Given the description of an element on the screen output the (x, y) to click on. 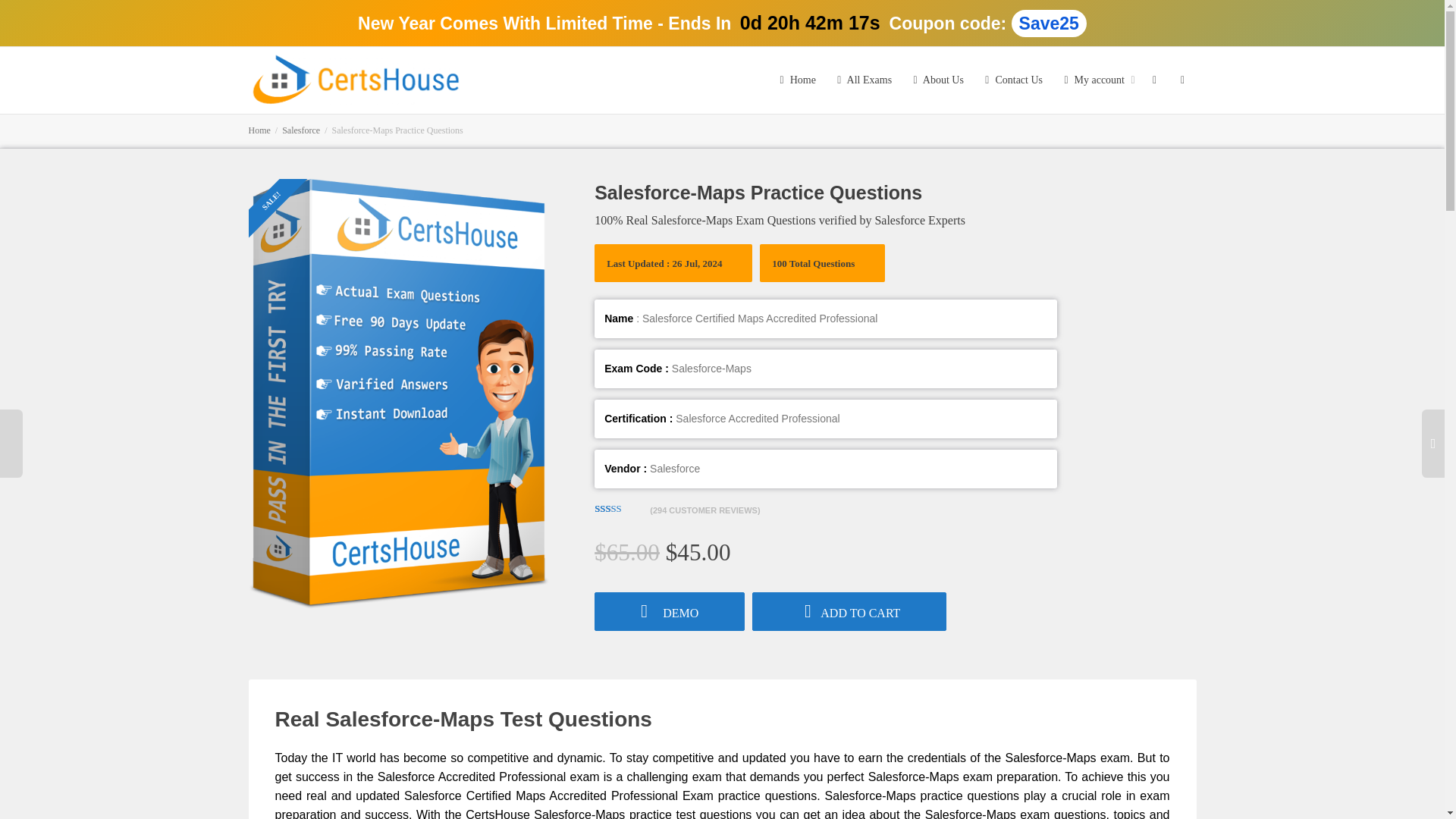
Salesforce (301, 130)
Home (259, 130)
DEMO (669, 611)
Contact Us (1011, 79)
ADD TO CART (849, 611)
Contact Us (1011, 79)
My account (1096, 79)
Certs House (356, 79)
My account (1096, 79)
